Given the description of an element on the screen output the (x, y) to click on. 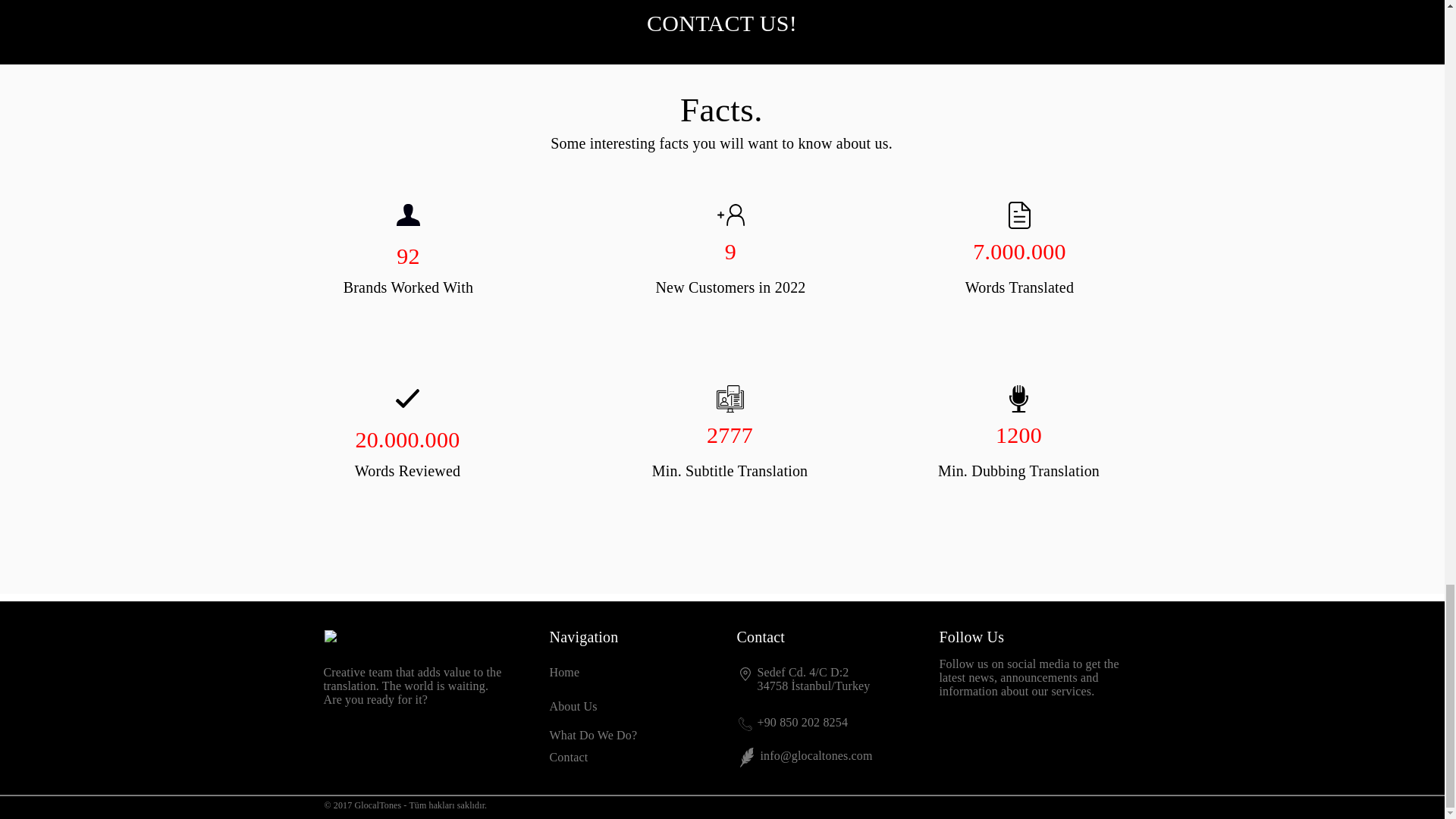
About Us (572, 706)
Home (563, 671)
What Do We Do? (592, 735)
Contact (568, 757)
